Given the description of an element on the screen output the (x, y) to click on. 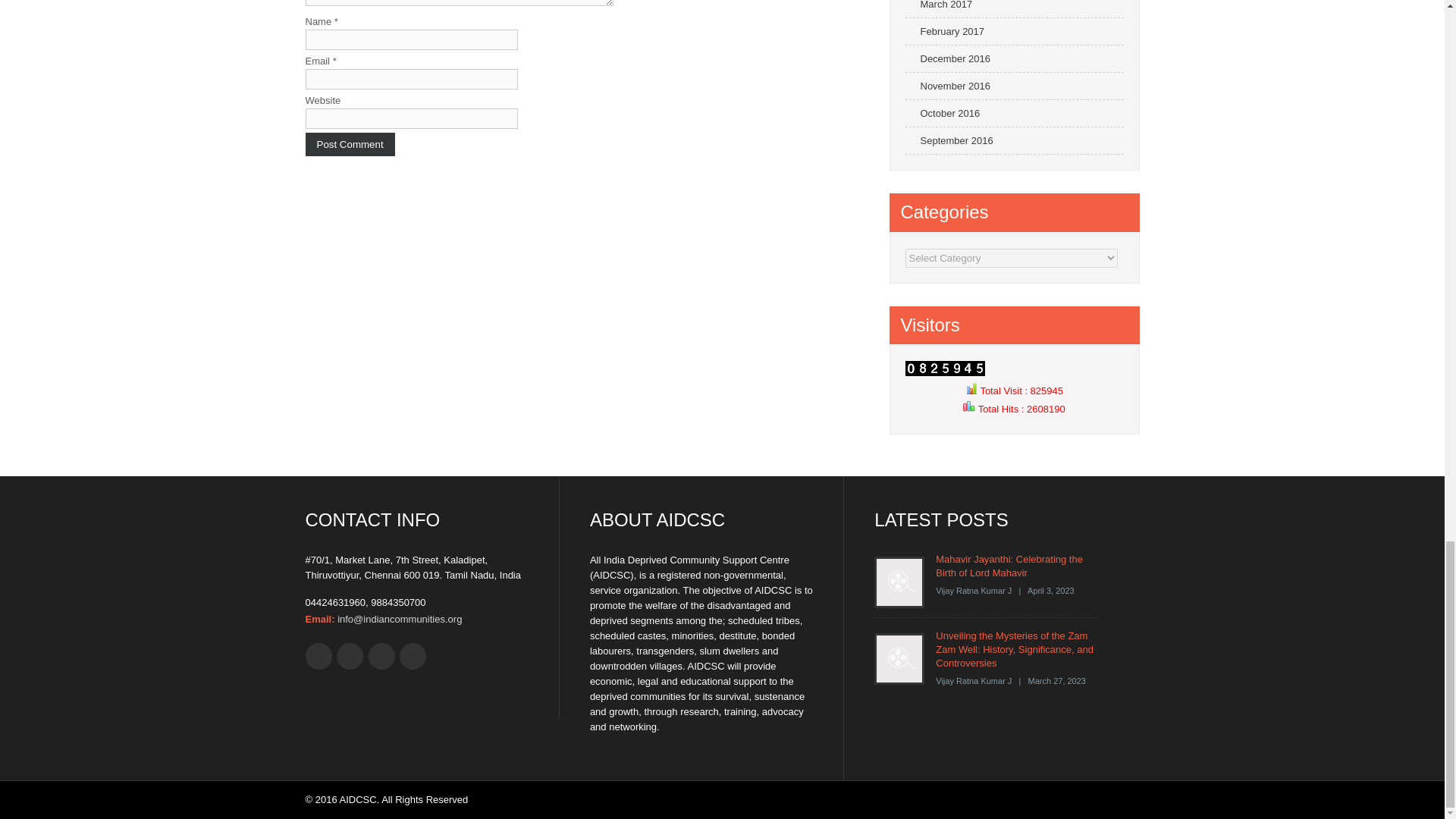
google-plus (381, 655)
facebook (317, 655)
Post Comment (349, 144)
twitter (349, 655)
linkedin (412, 655)
